Given the description of an element on the screen output the (x, y) to click on. 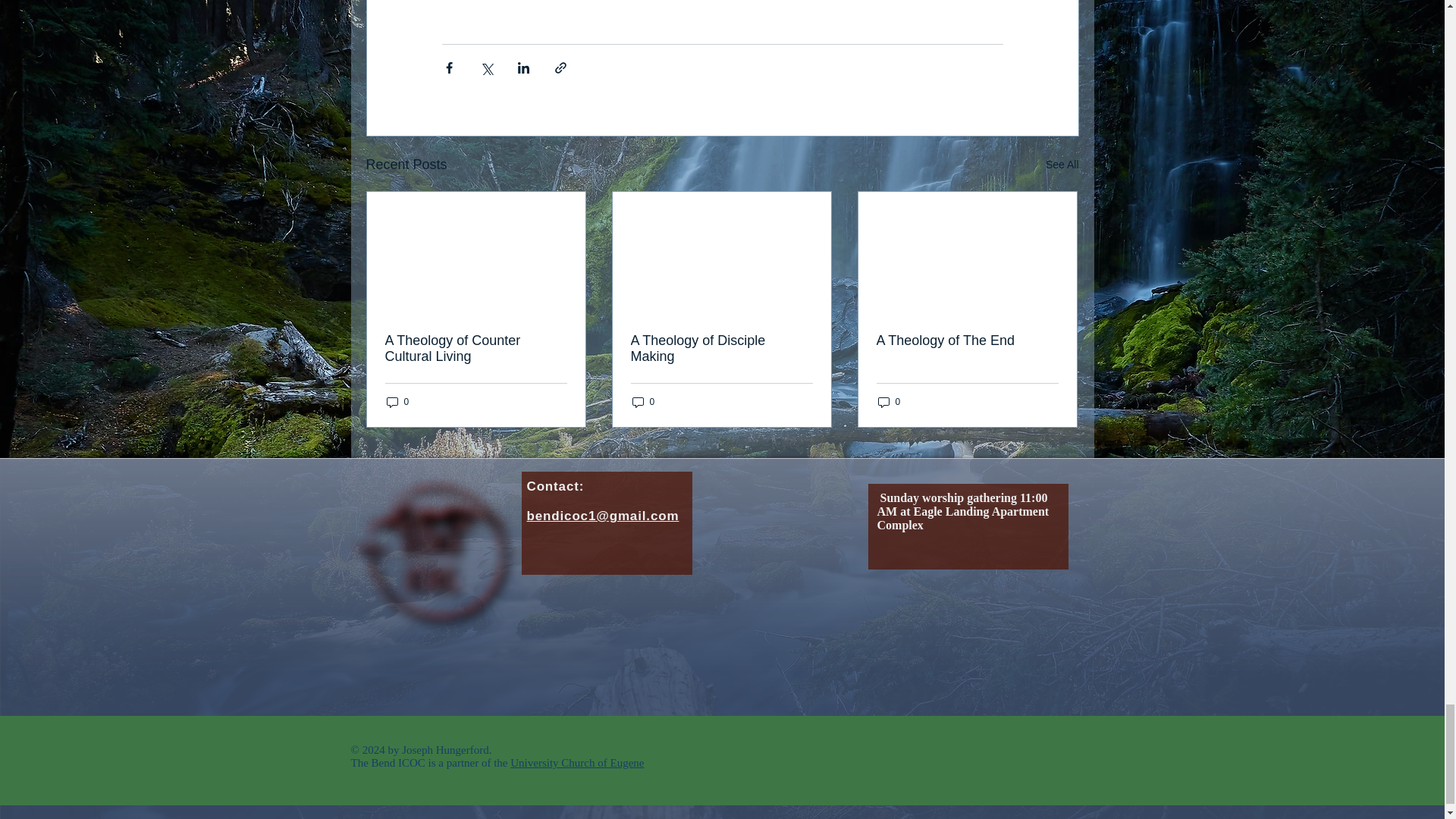
A Theology of Disciple Making (721, 348)
0 (397, 401)
0 (643, 401)
0 (889, 401)
A Theology of The End (967, 340)
A Theology of Counter Cultural Living (476, 348)
See All (1061, 164)
